Given the description of an element on the screen output the (x, y) to click on. 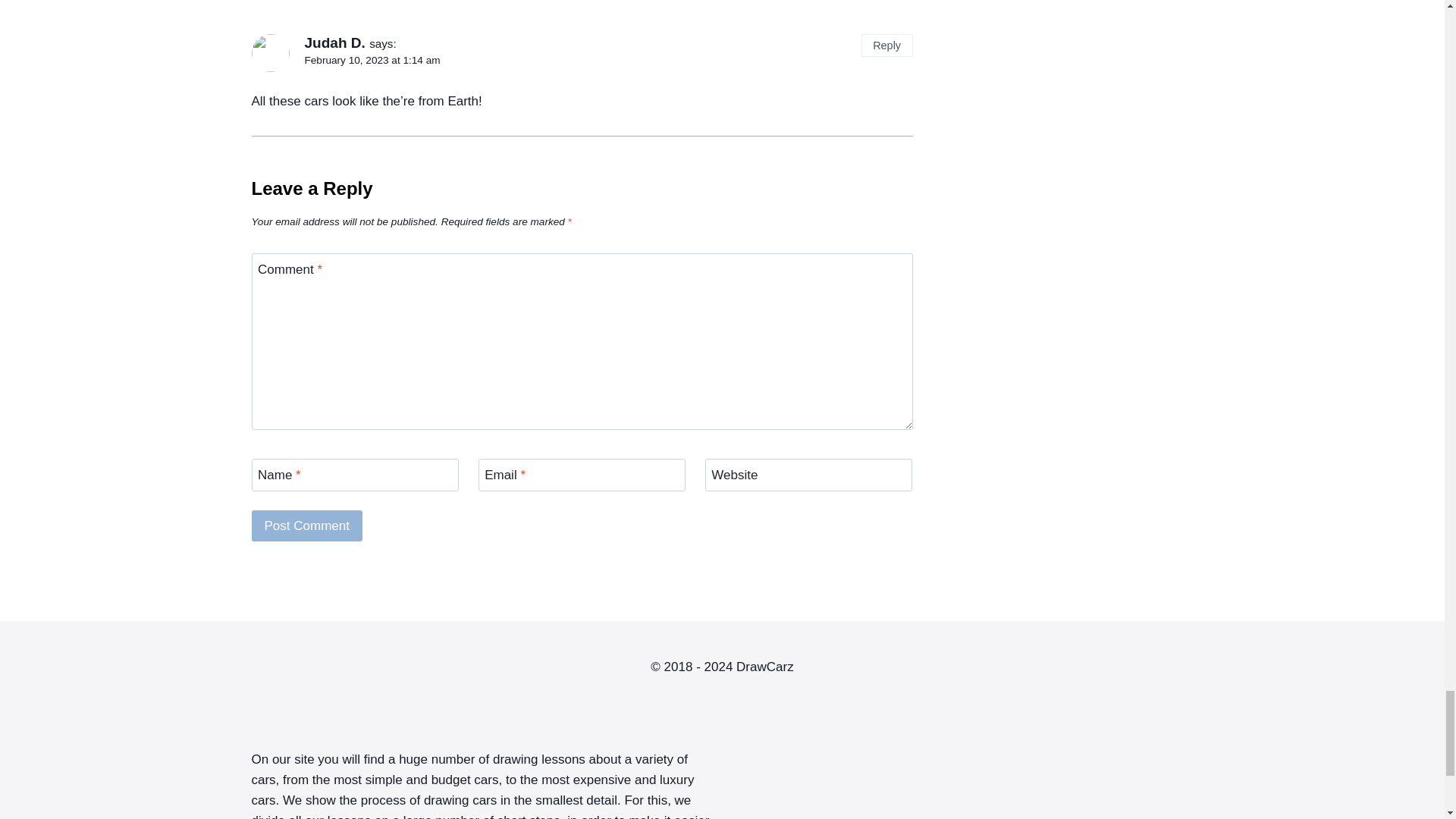
Post Comment (306, 525)
